Given the description of an element on the screen output the (x, y) to click on. 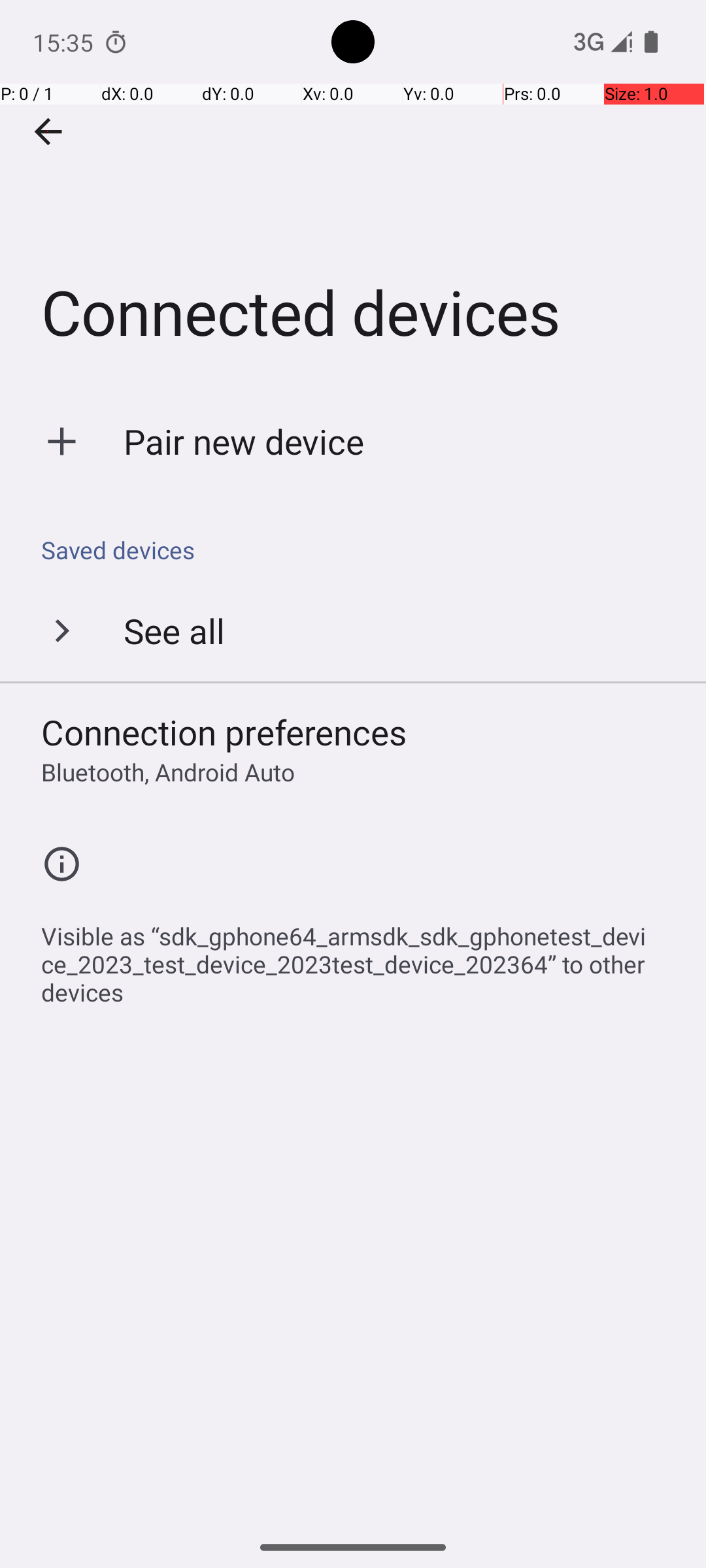
Visible as “sdk_gphone64_armsdk_sdk_gphonetest_device_2023_test_device_2023test_device_202364” to other devices Element type: android.widget.TextView (359, 956)
